Given the description of an element on the screen output the (x, y) to click on. 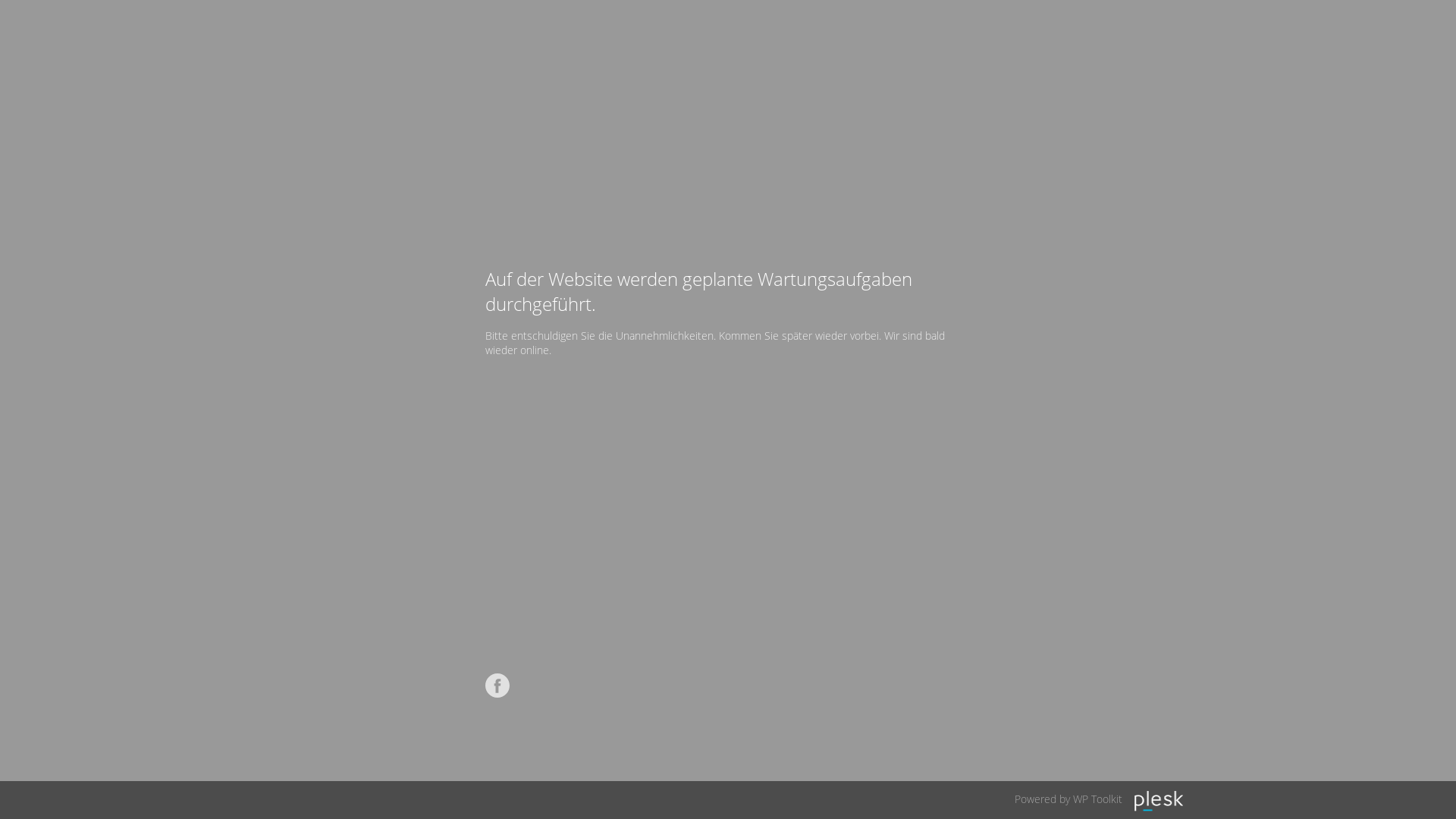
Facebook Element type: hover (497, 685)
